Given the description of an element on the screen output the (x, y) to click on. 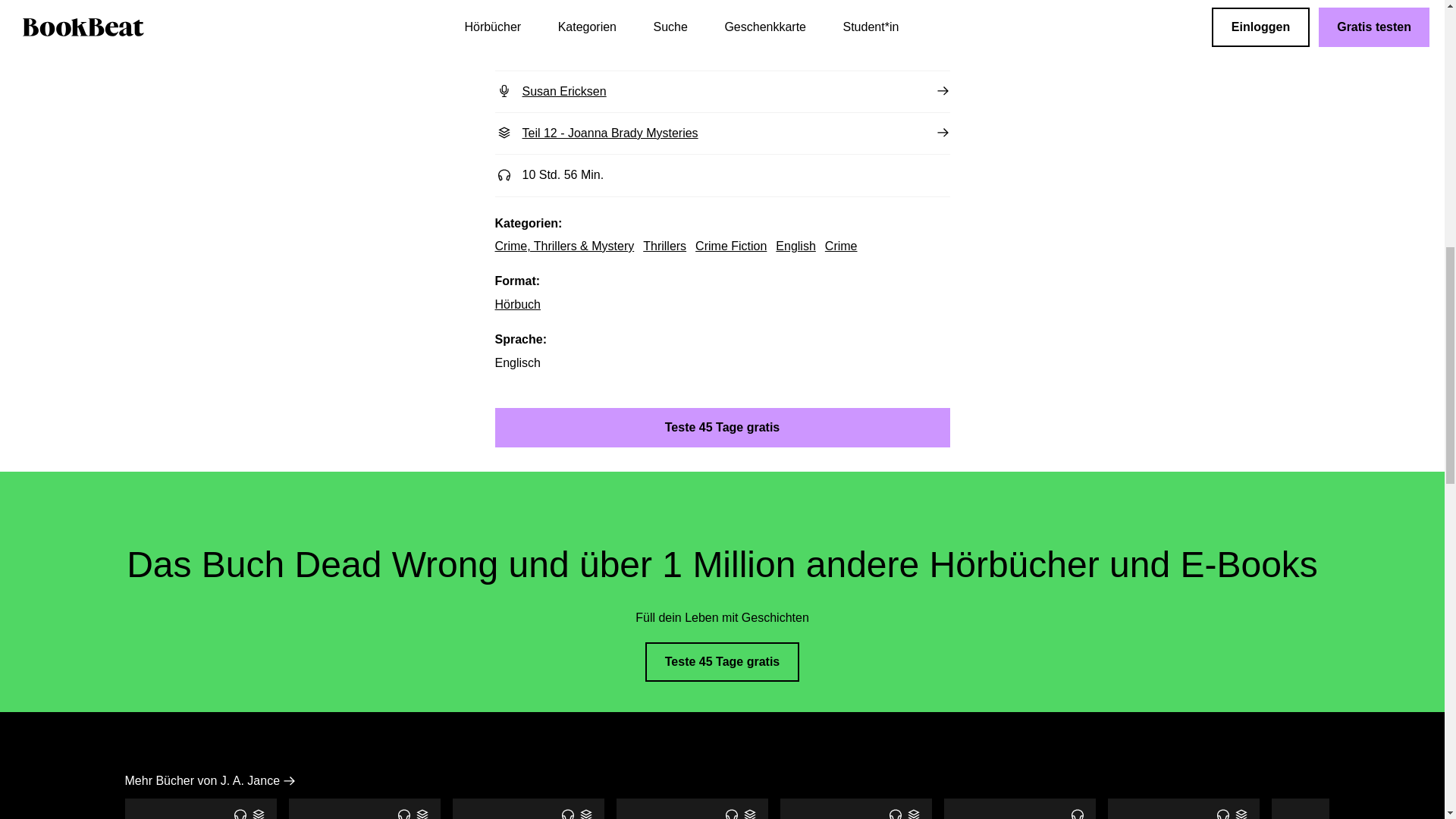
Item 3 of 45 (527, 808)
Carousel-container-:r1: (721, 808)
J. A. Jance (722, 49)
Thrillers (664, 246)
Thrillers (664, 246)
Teste 45 Tage gratis (722, 427)
Crime (841, 246)
Item 2 of 45 (854, 808)
Crime Fiction (363, 808)
